Given the description of an element on the screen output the (x, y) to click on. 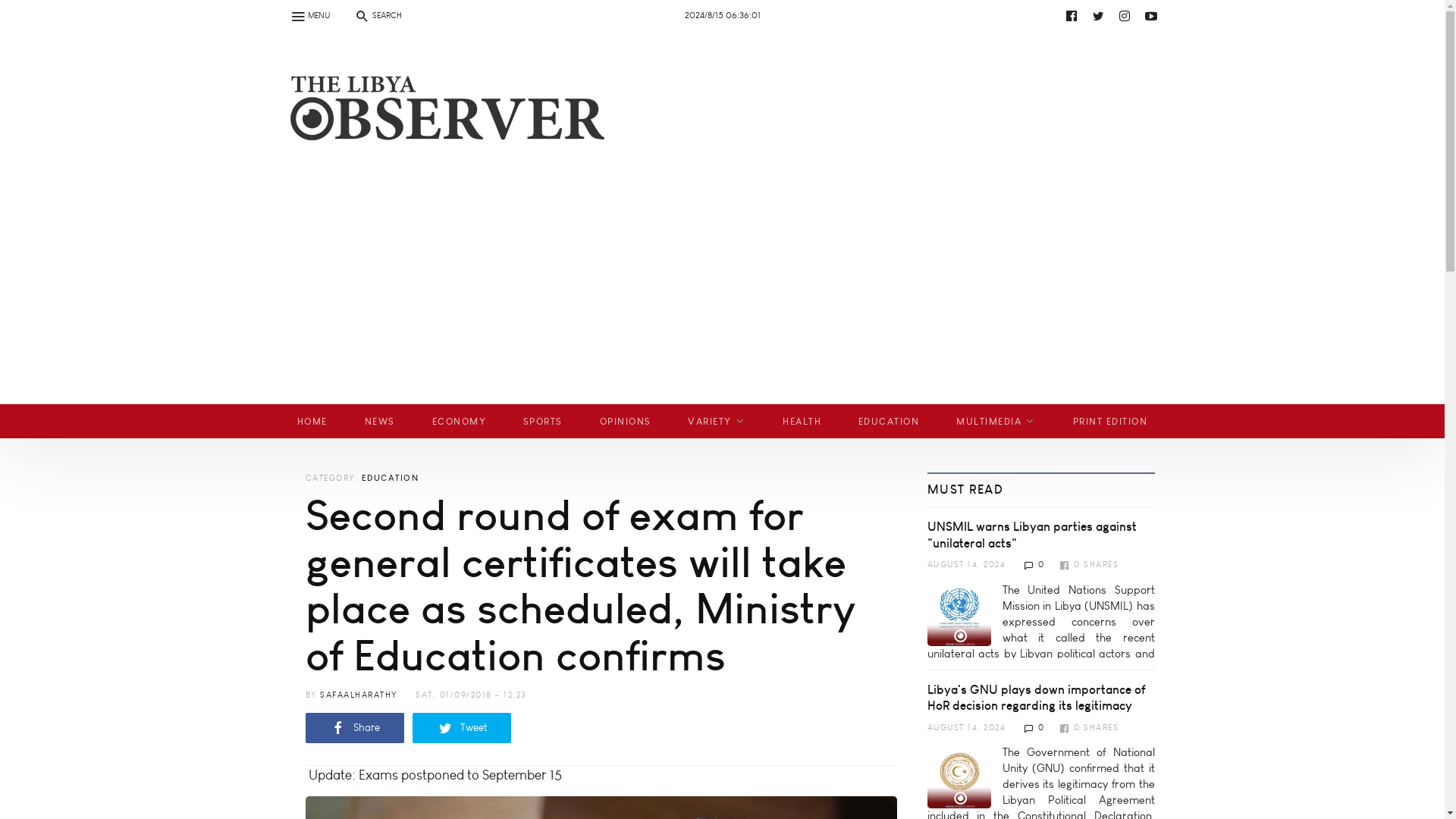
VARIETY (716, 421)
HEALTH (802, 421)
instagram (1123, 14)
Search (20, 9)
EDUCATION (888, 421)
ECONOMY (458, 421)
MENU (309, 15)
youtube (736, 14)
NEWS (379, 421)
